Given the description of an element on the screen output the (x, y) to click on. 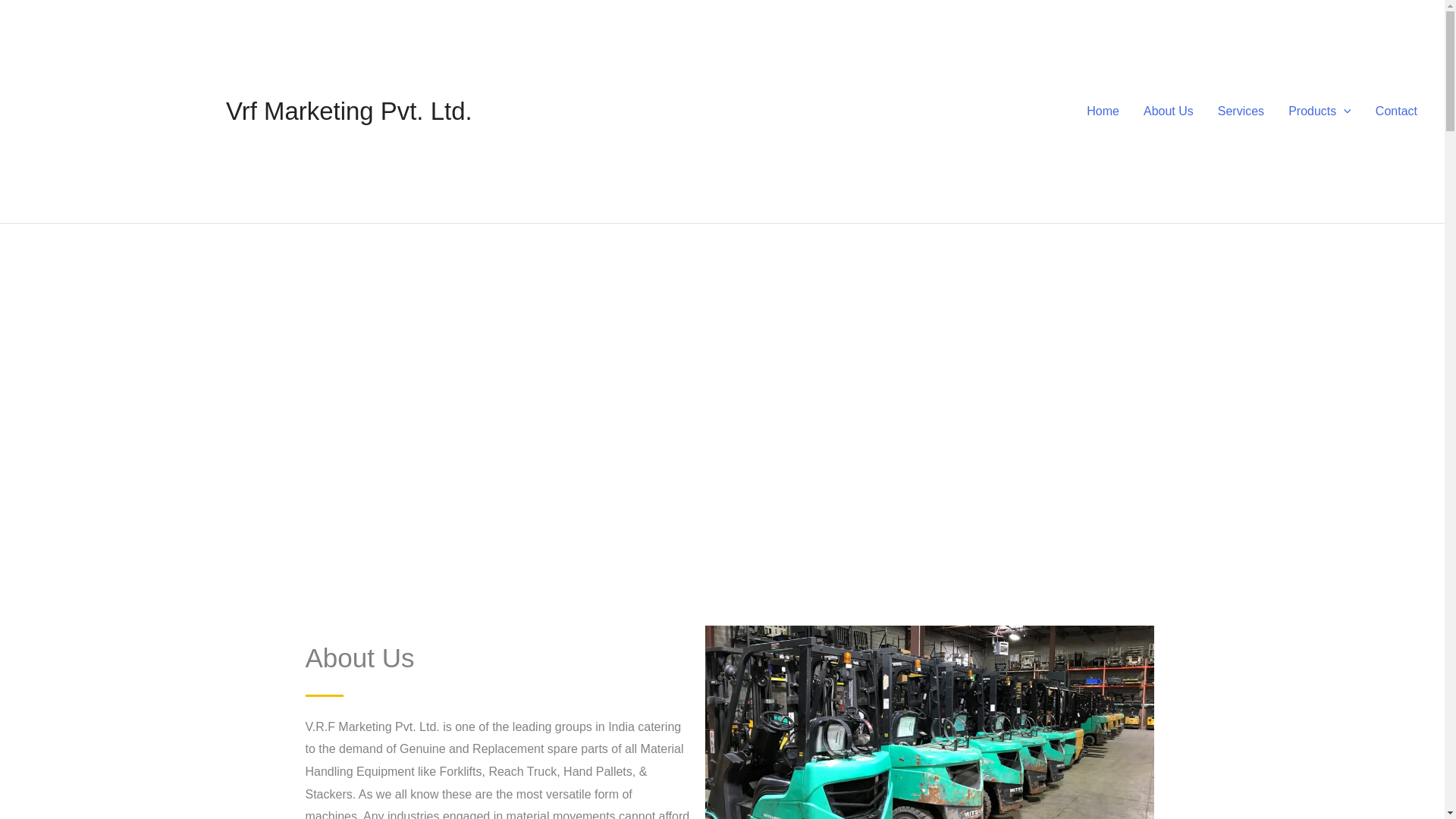
Contact (1395, 111)
Home (1102, 111)
About Us (1168, 111)
Vrf Marketing Pvt. Ltd. (348, 111)
Products (1319, 111)
Services (1240, 111)
